Given the description of an element on the screen output the (x, y) to click on. 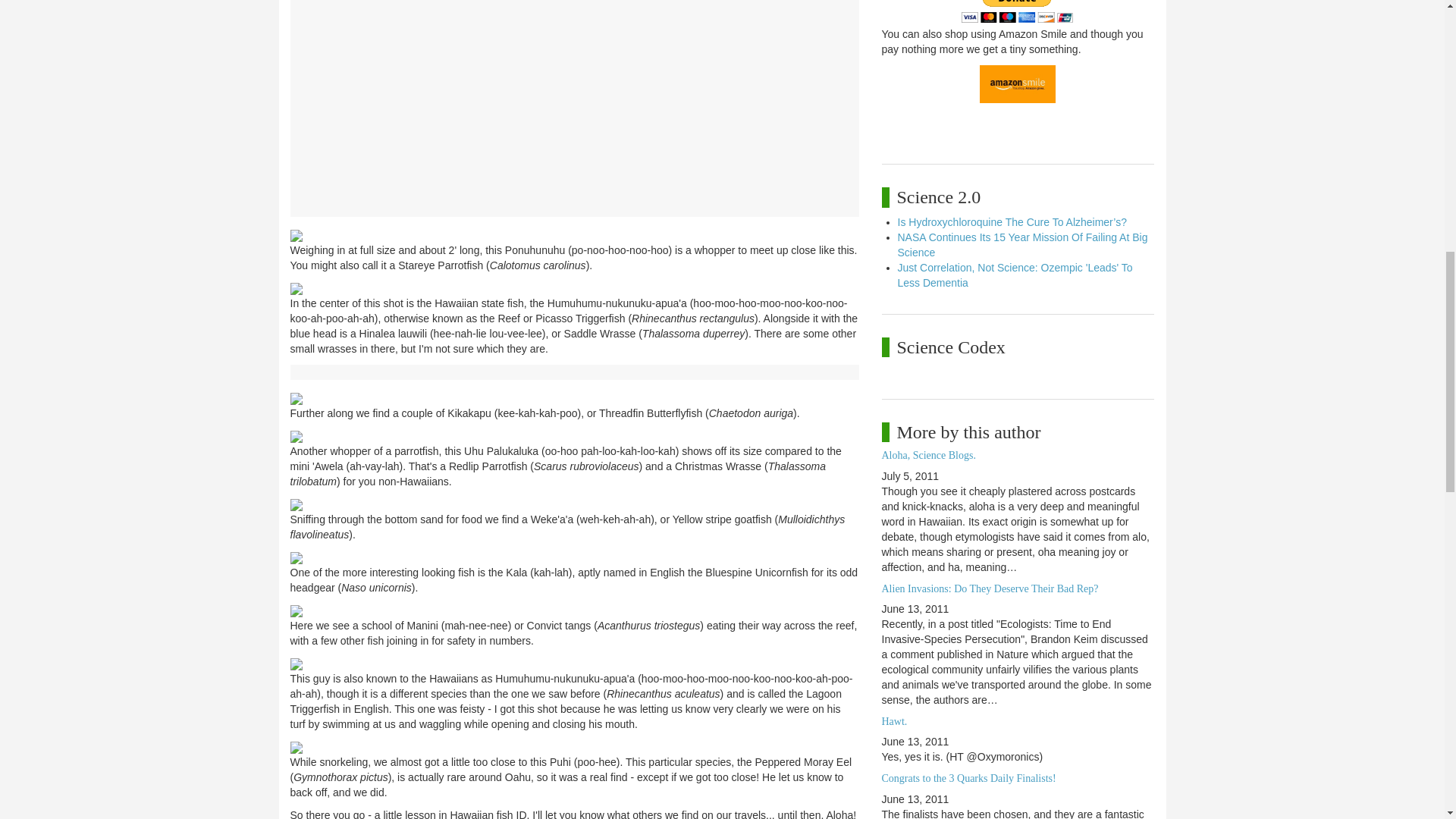
Advertisement (573, 125)
NASA Continues Its 15 Year Mission Of Failing At Big Science (1023, 244)
Aloha, Science Blogs. (927, 455)
PayPal - The safer, easier way to pay online! (1016, 11)
